Given the description of an element on the screen output the (x, y) to click on. 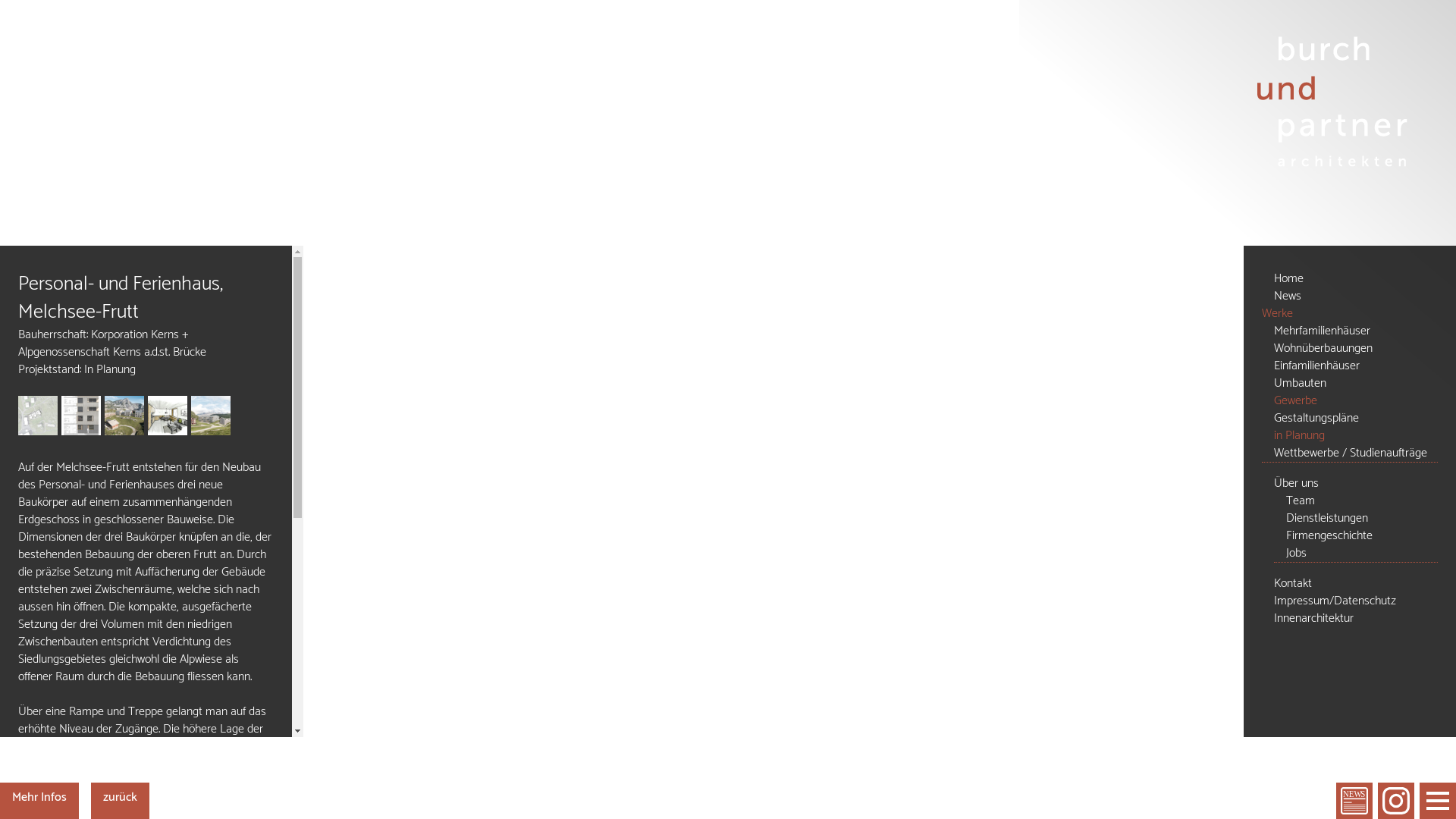
Jobs Element type: text (1361, 552)
Innenarchitektur Element type: text (1355, 618)
Umbauten Element type: text (1355, 383)
Firmengeschichte Element type: text (1361, 535)
in Planung Element type: text (1355, 435)
Mehr Infos Element type: text (39, 797)
Gewerbe Element type: text (1355, 400)
Dienstleistungen Element type: text (1361, 518)
News Element type: text (1355, 295)
Kontakt Element type: text (1355, 583)
Team Element type: text (1361, 500)
Home Element type: text (1355, 278)
Impressum/Datenschutz Element type: text (1355, 600)
Werke Element type: text (1349, 313)
